Given the description of an element on the screen output the (x, y) to click on. 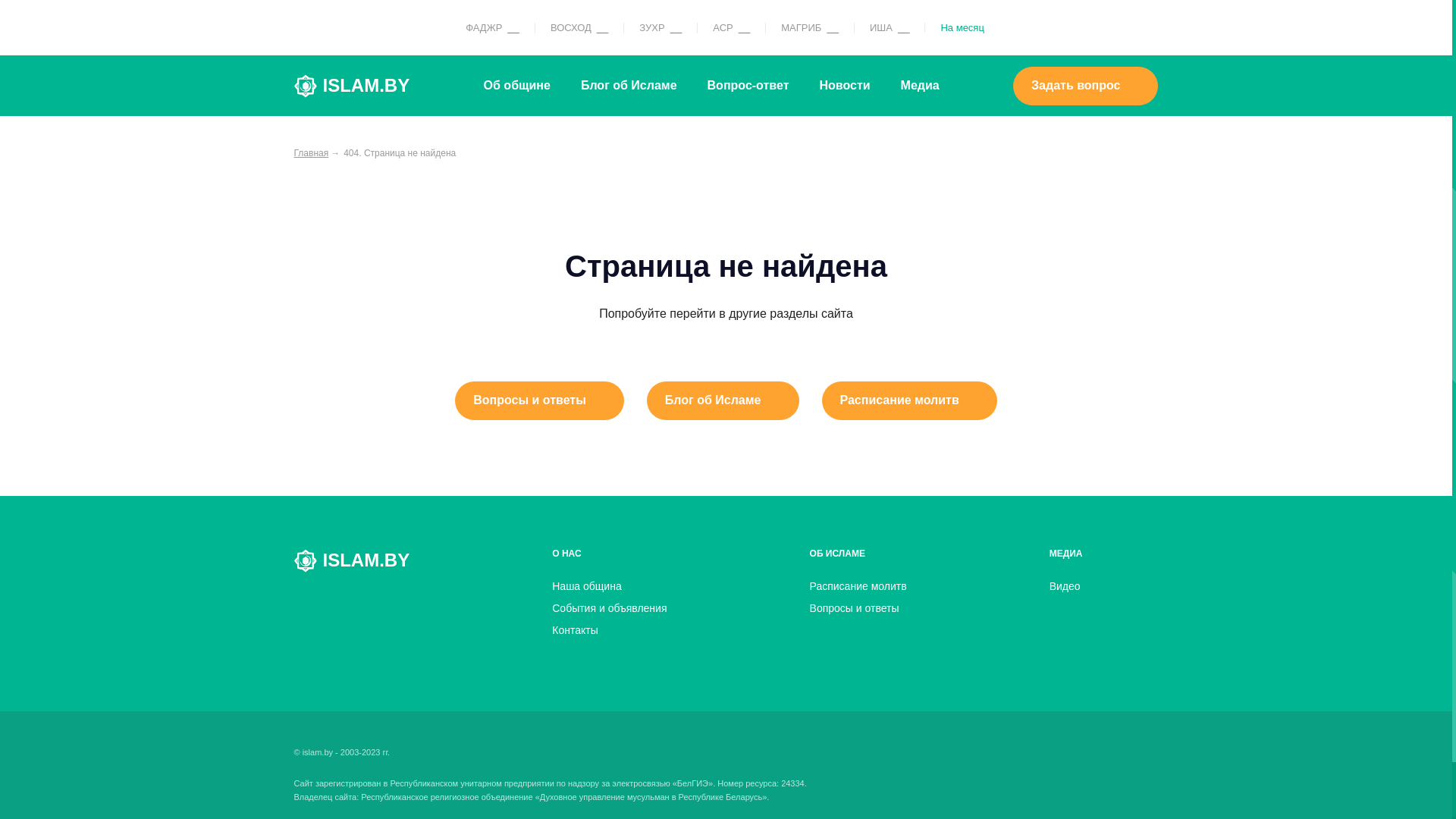
ISLAM.BY Element type: text (352, 560)
ISLAM.BY Element type: text (352, 85)
